Given the description of an element on the screen output the (x, y) to click on. 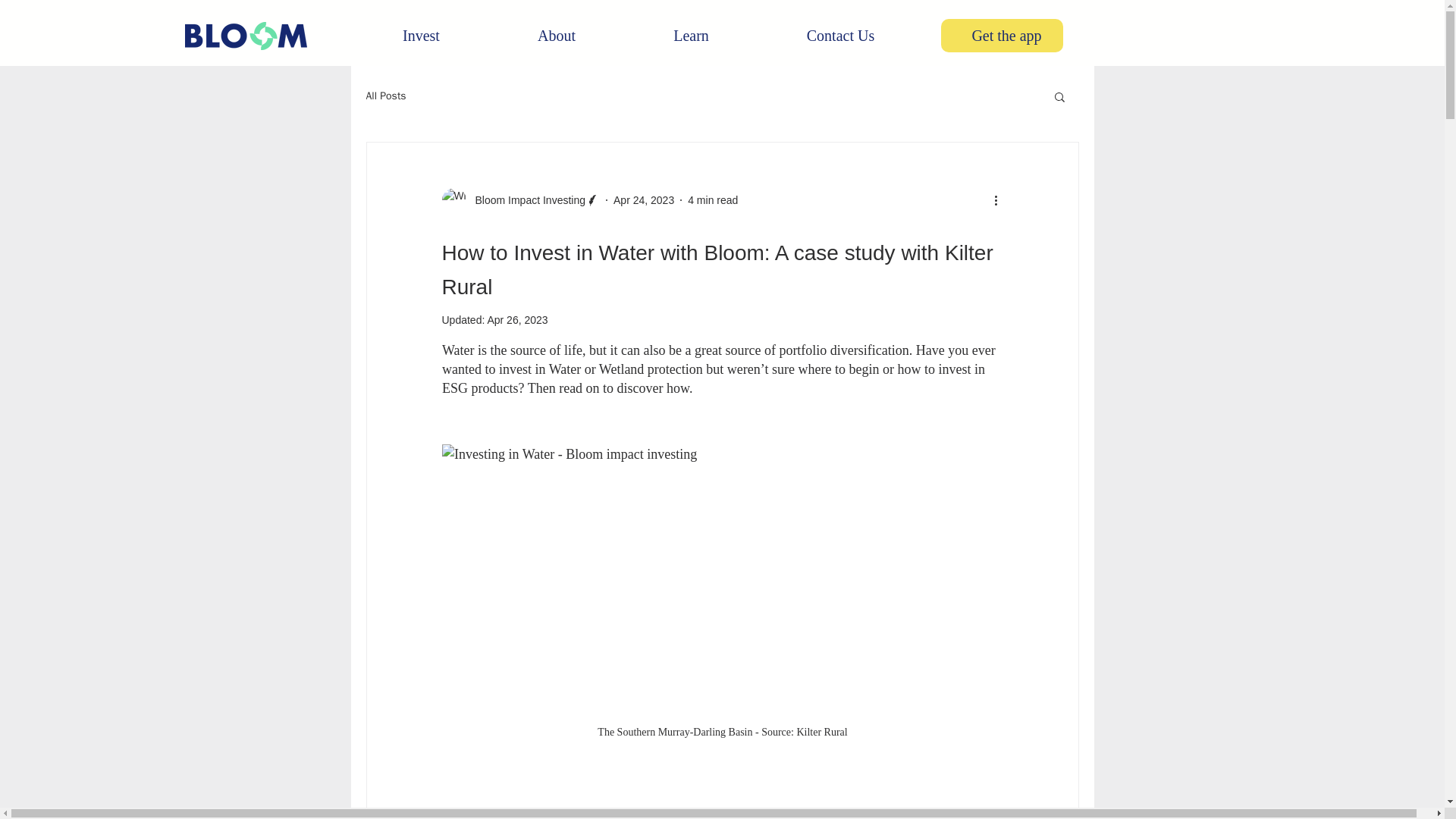
Get the app (1004, 35)
Apr 26, 2023 (516, 319)
Apr 24, 2023 (643, 200)
Bloom Impact Investing (525, 200)
Bloom Impact Investing (520, 200)
Contact Us (840, 35)
All Posts (385, 96)
4 min read (712, 200)
